Given the description of an element on the screen output the (x, y) to click on. 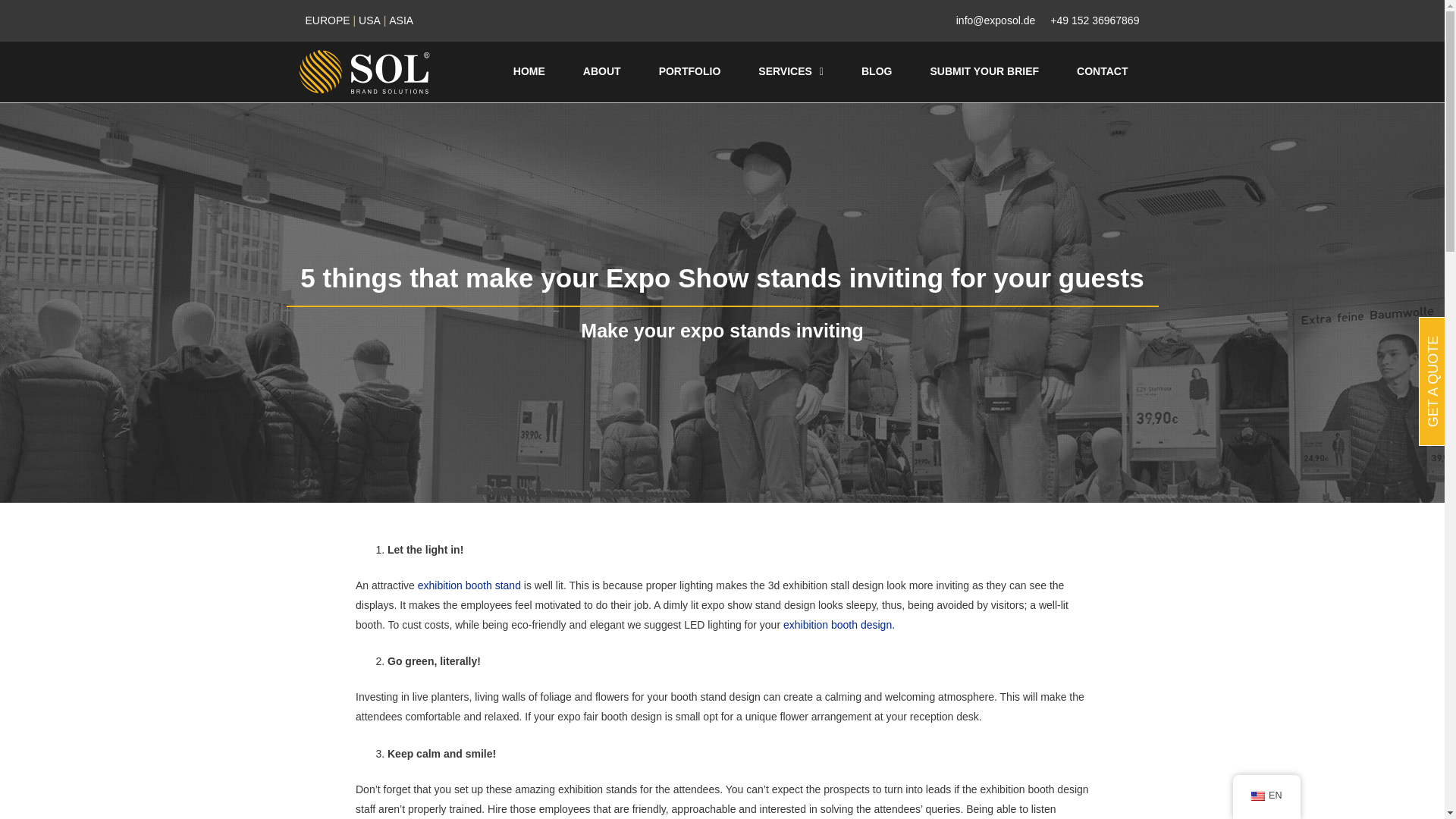
EUROPE (326, 20)
exhibition booth design. (839, 624)
USA (369, 20)
BLOG (877, 71)
PORTFOLIO (689, 71)
CONTACT (1102, 71)
ABOUT (602, 71)
ASIA (400, 20)
SERVICES (791, 71)
exhibition booth stand (467, 585)
SUBMIT YOUR BRIEF (984, 71)
HOME (529, 71)
